Given the description of an element on the screen output the (x, y) to click on. 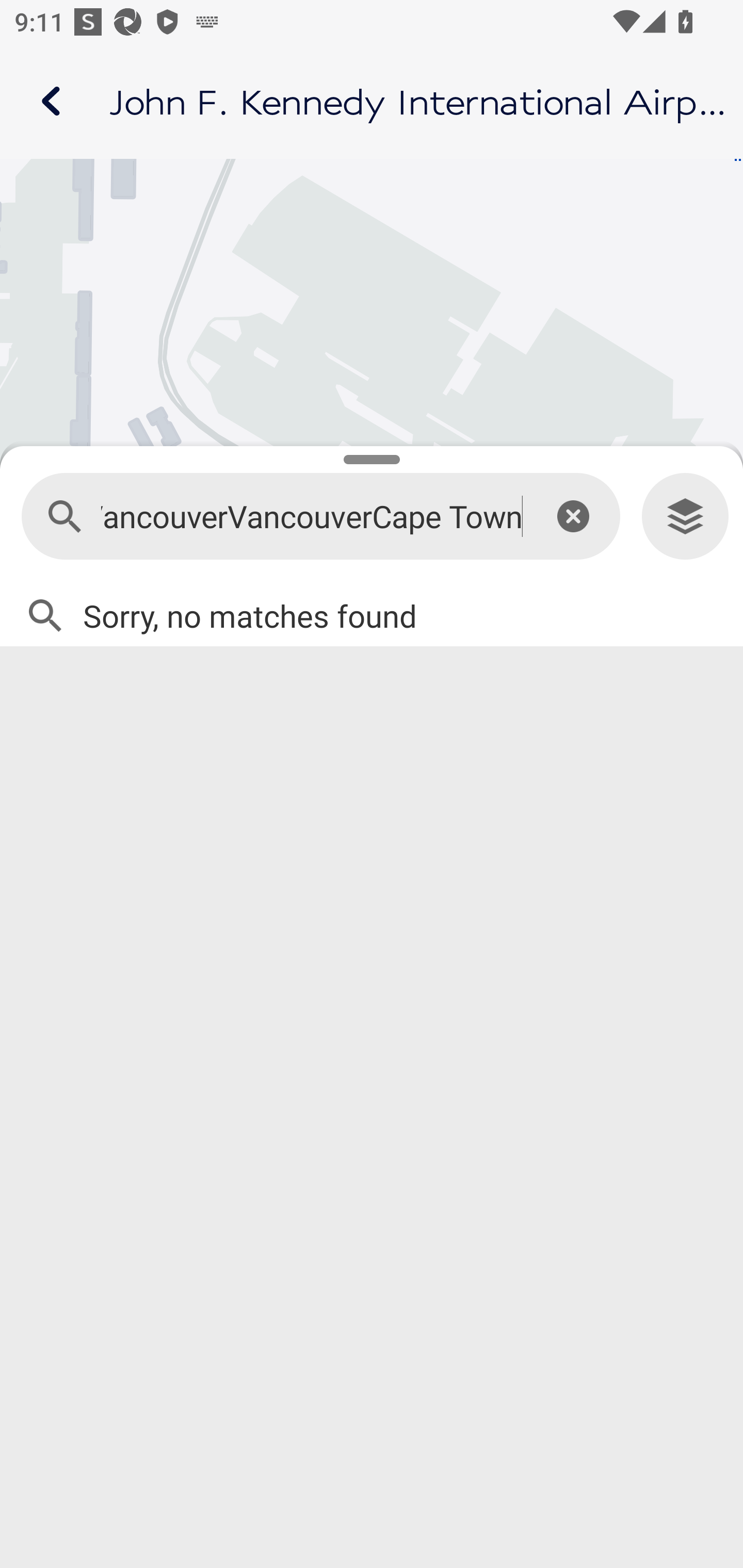
Airport map (371, 100)
MadridVancouverVancouverCape Town (311, 516)
Levels (684, 516)
This is an icon for clearing the text field. (573, 515)
